Given the description of an element on the screen output the (x, y) to click on. 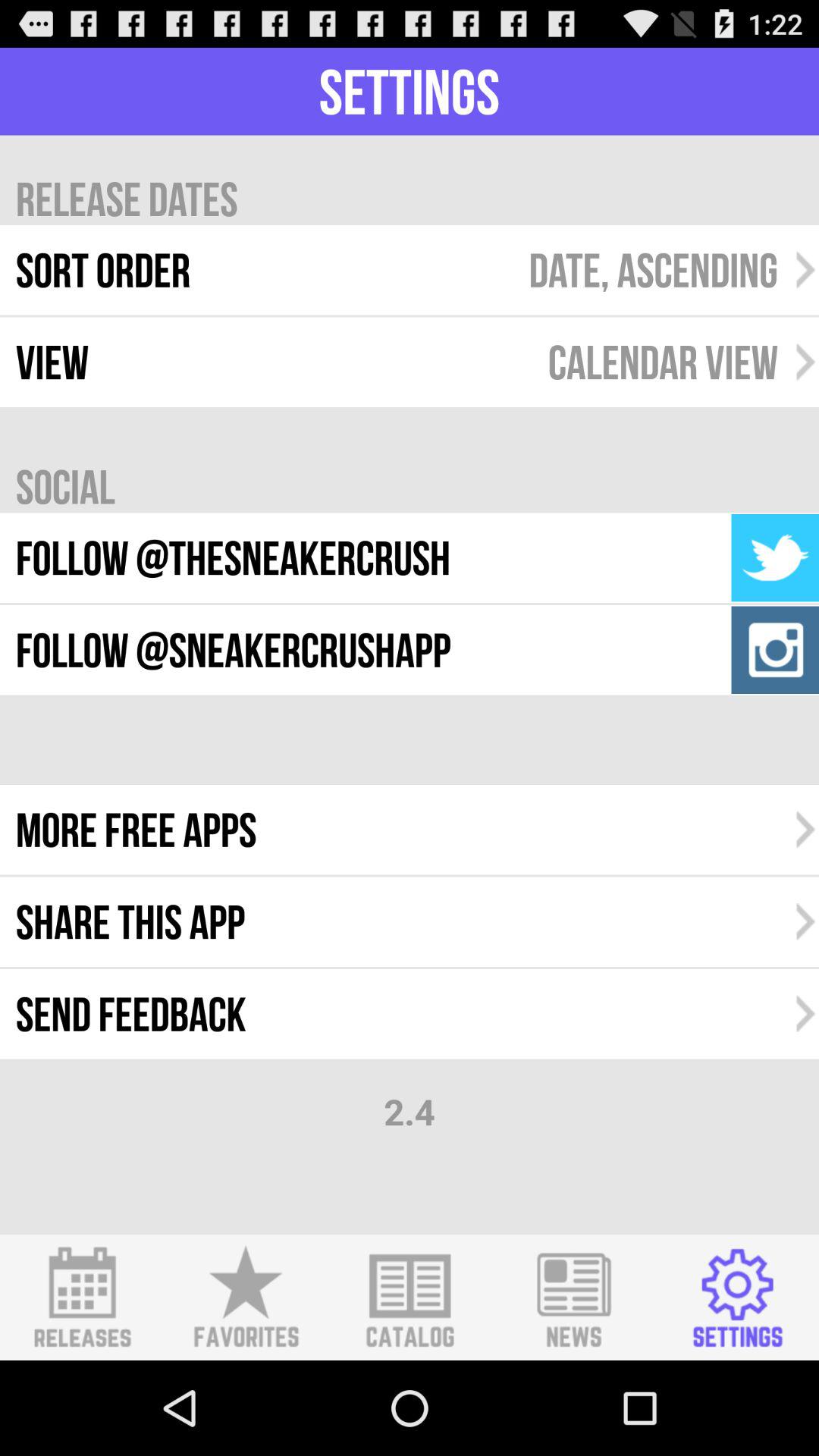
shows the news icon (573, 1297)
